Given the description of an element on the screen output the (x, y) to click on. 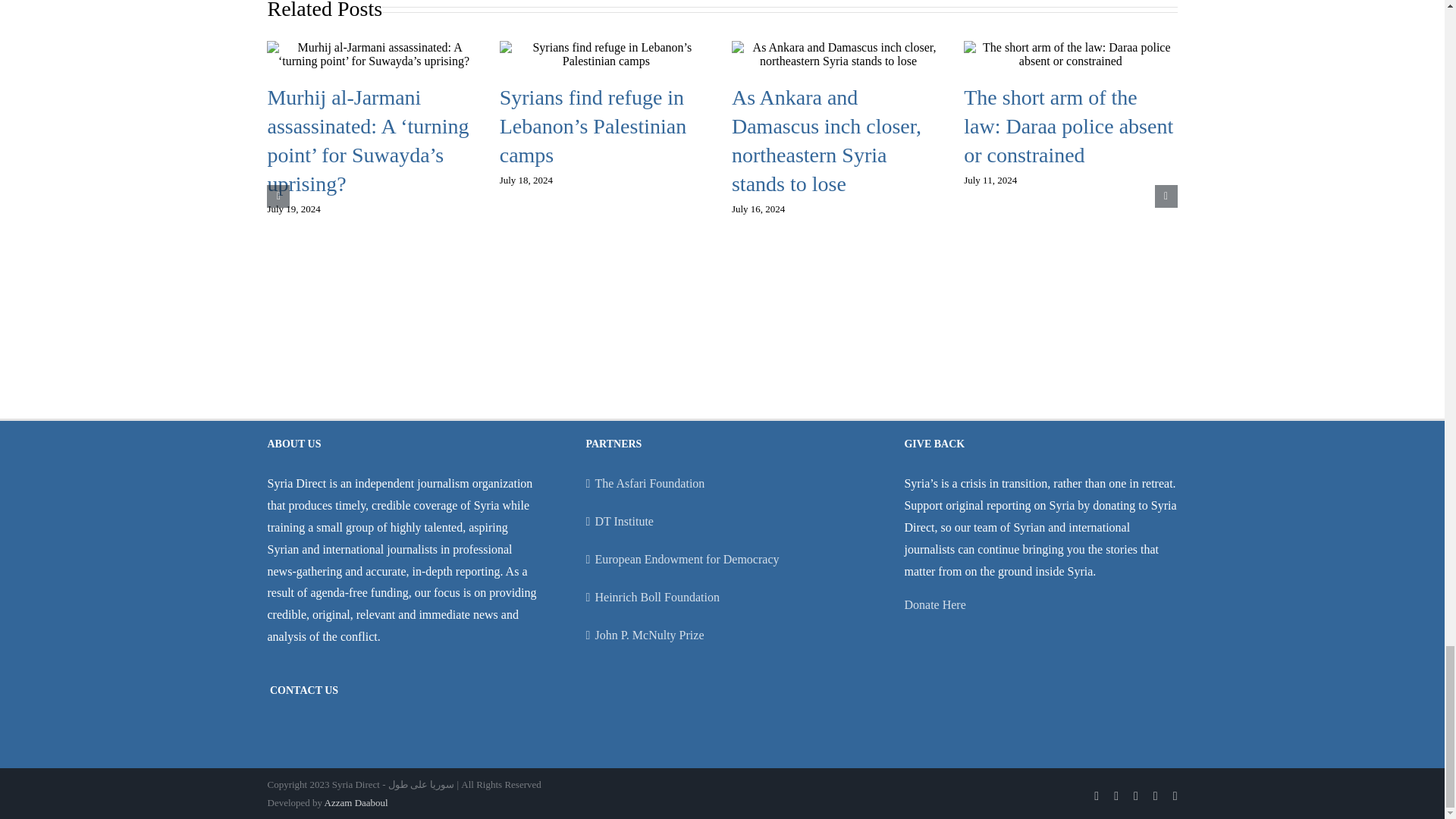
The short arm of the law: Daraa police absent or constrained (1068, 126)
